Given the description of an element on the screen output the (x, y) to click on. 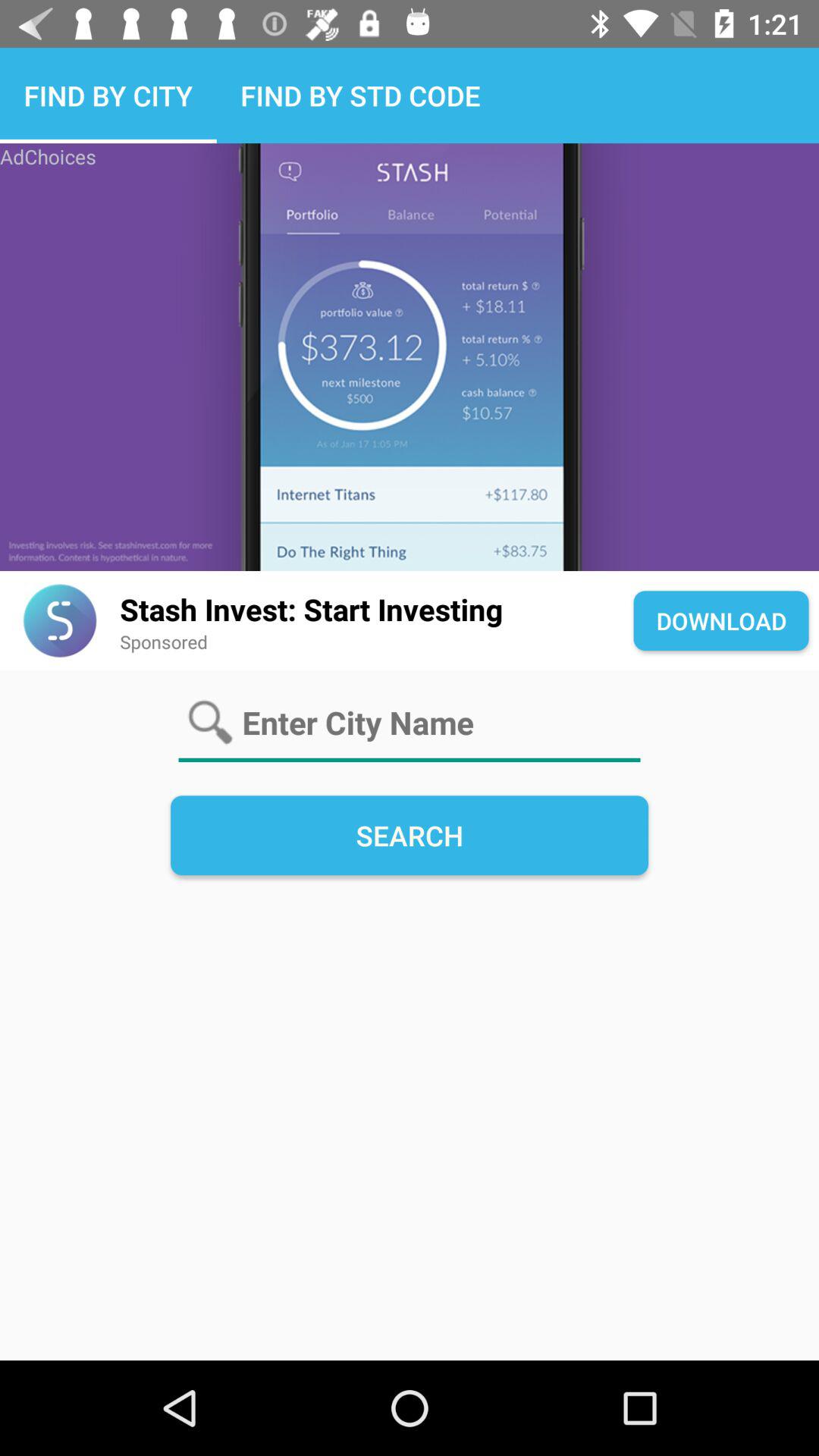
go to stash advertisement (409, 357)
